Given the description of an element on the screen output the (x, y) to click on. 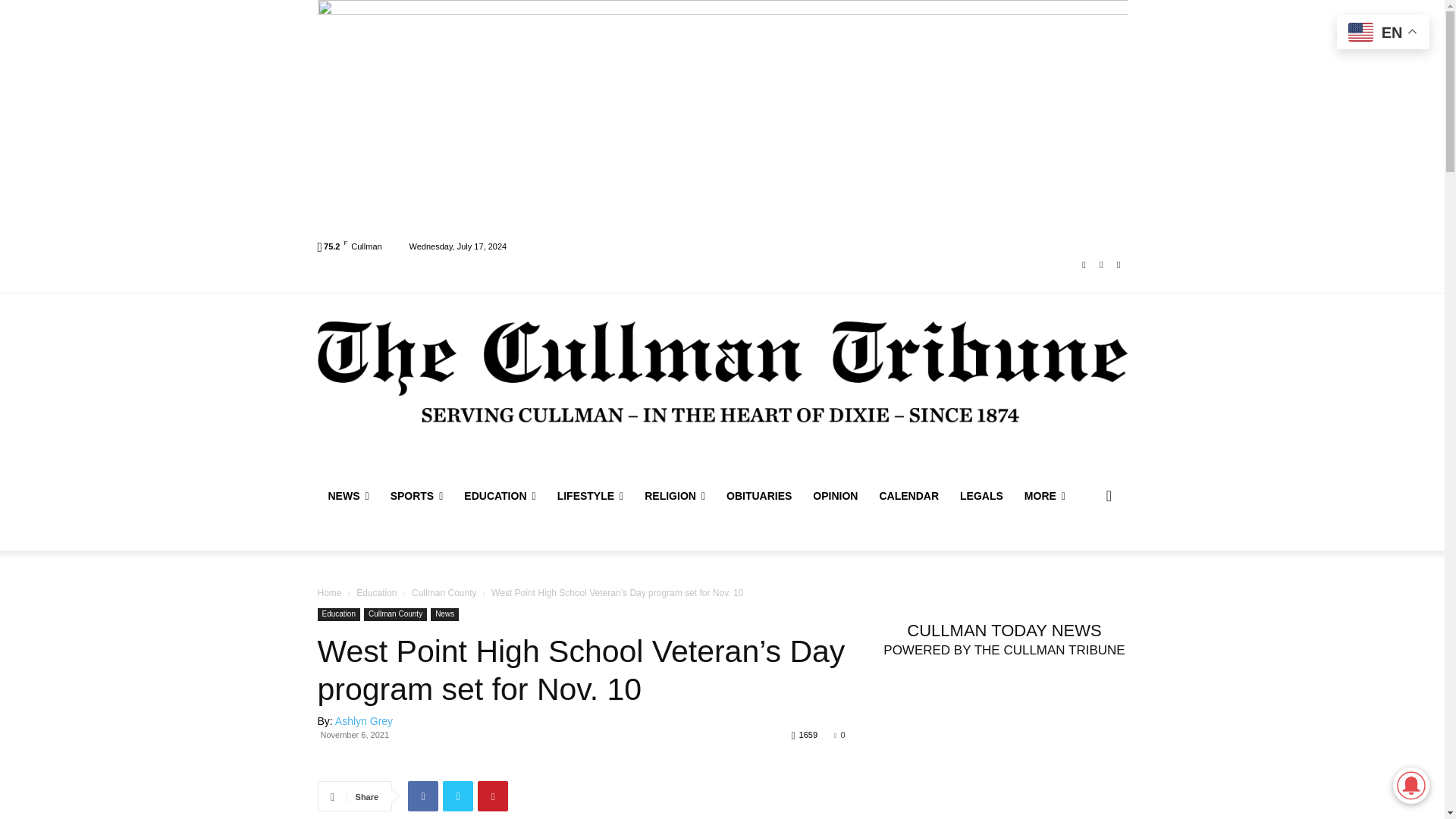
Twitter (1117, 264)
Facebook (1084, 264)
Instagram (1101, 264)
